Given the description of an element on the screen output the (x, y) to click on. 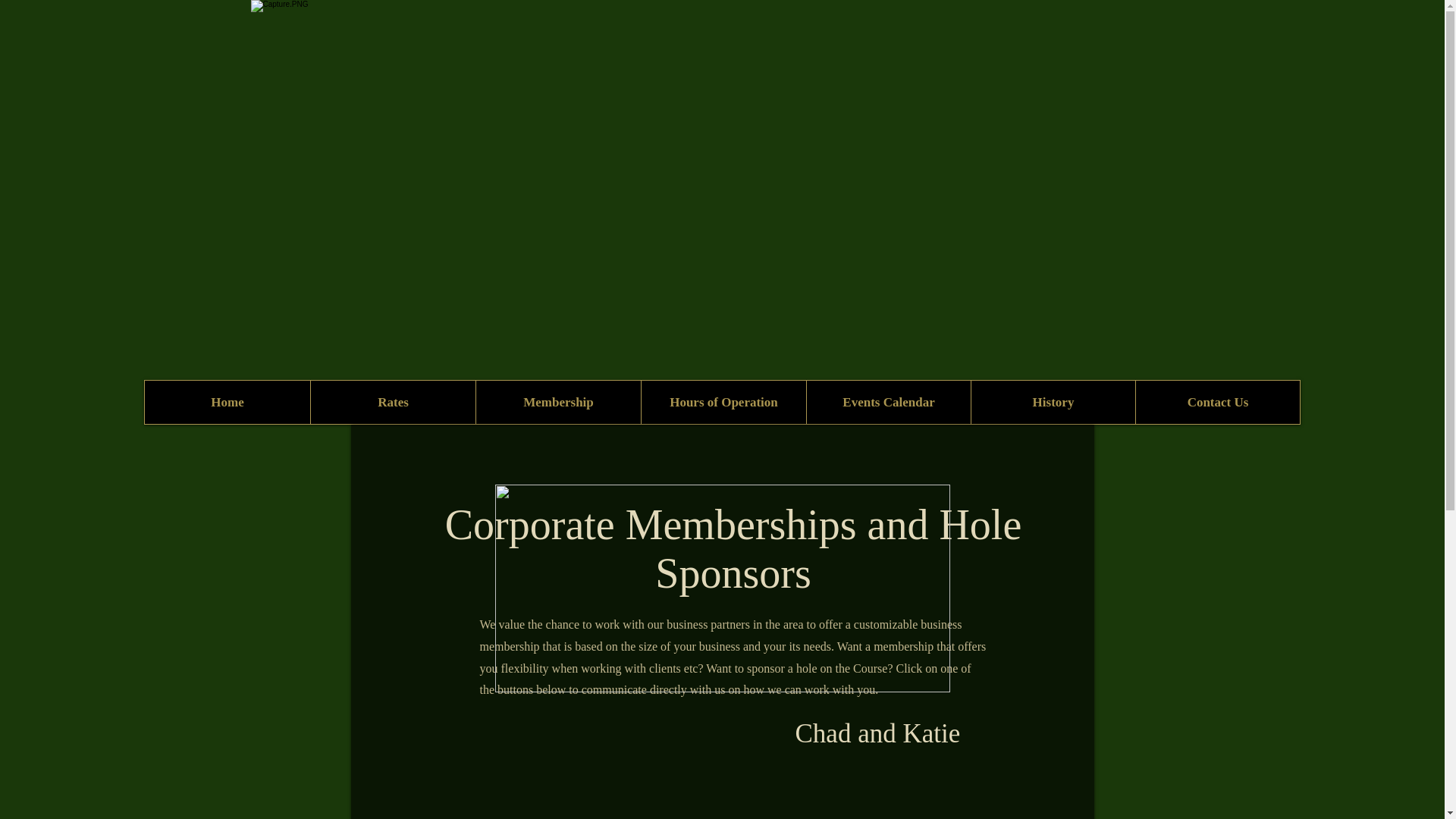
Events Calendar (888, 402)
Contact Us (1217, 402)
E8wHf1674068658.jpg (722, 588)
Home (227, 402)
Membership (558, 402)
Hours of Operation (723, 402)
History (1053, 402)
Rates (393, 402)
